Given the description of an element on the screen output the (x, y) to click on. 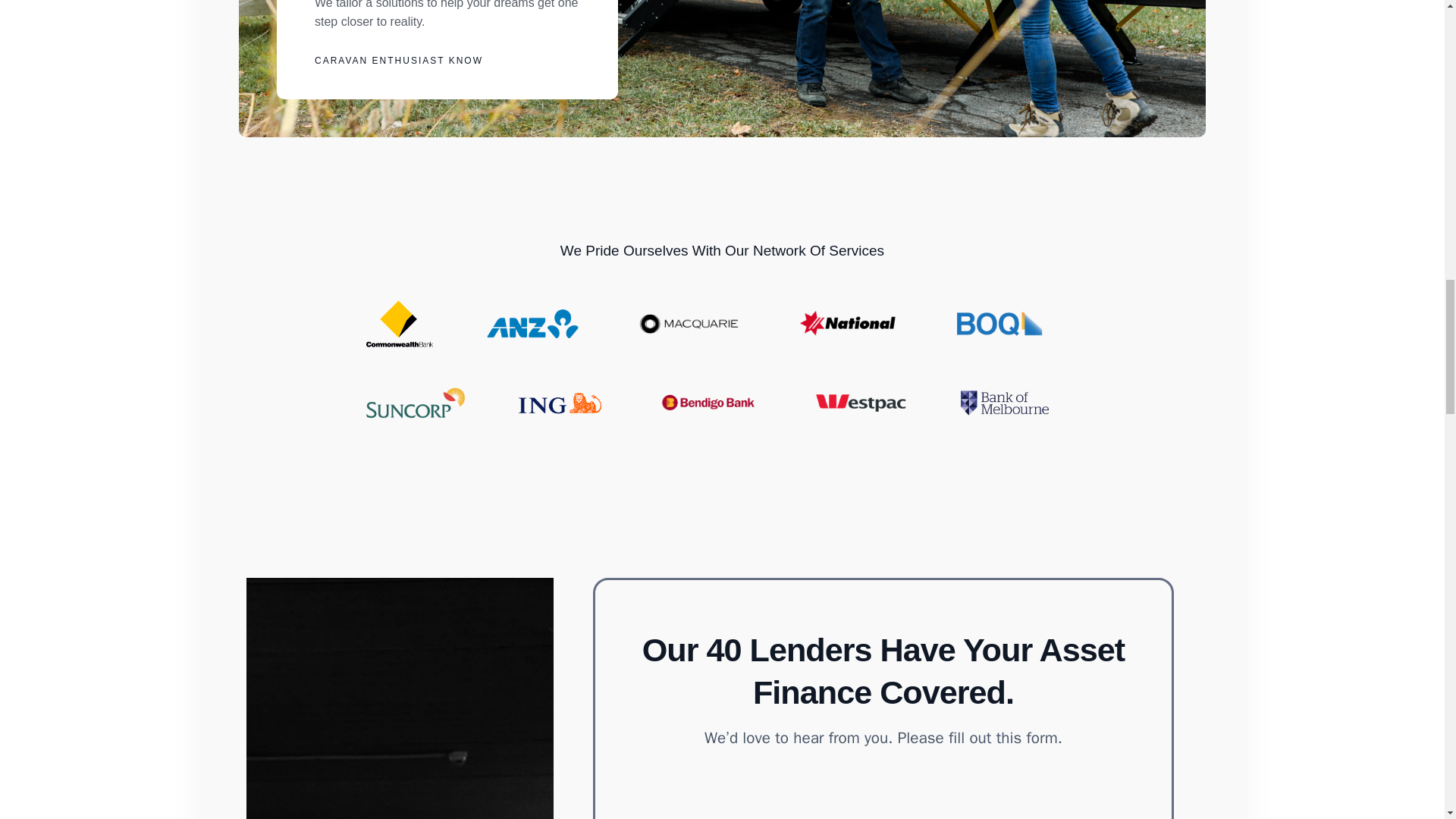
CARAVAN ENTHUSIAST KNOW (398, 60)
